Given the description of an element on the screen output the (x, y) to click on. 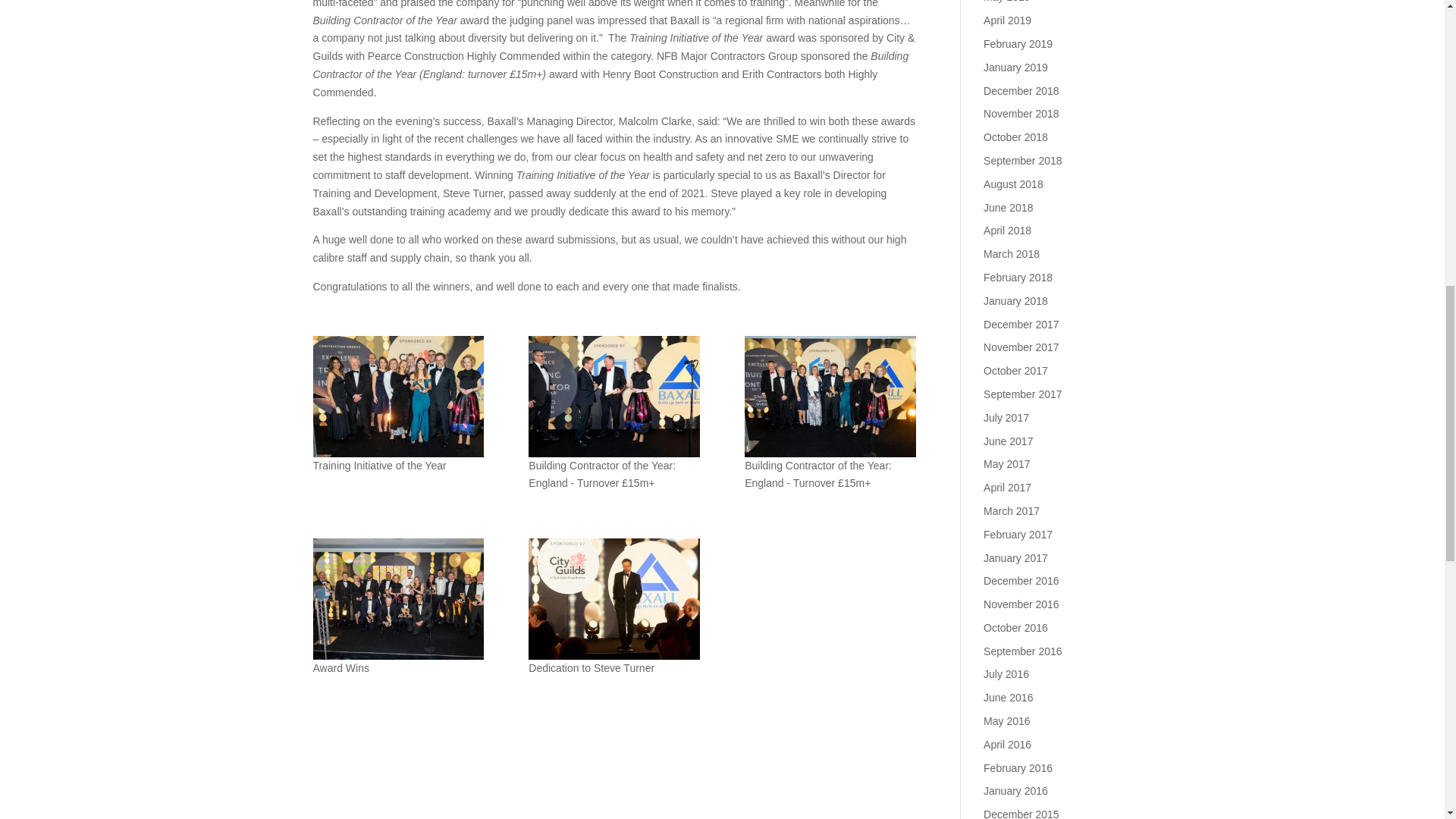
PHT 070422 NFB 373 (613, 395)
NFB Award Win 2 (398, 395)
PHT 070422 NFB 471 (398, 599)
PHT 070422 NFB 376 (829, 395)
PHT 070422 NFB 435 (613, 599)
